Given the description of an element on the screen output the (x, y) to click on. 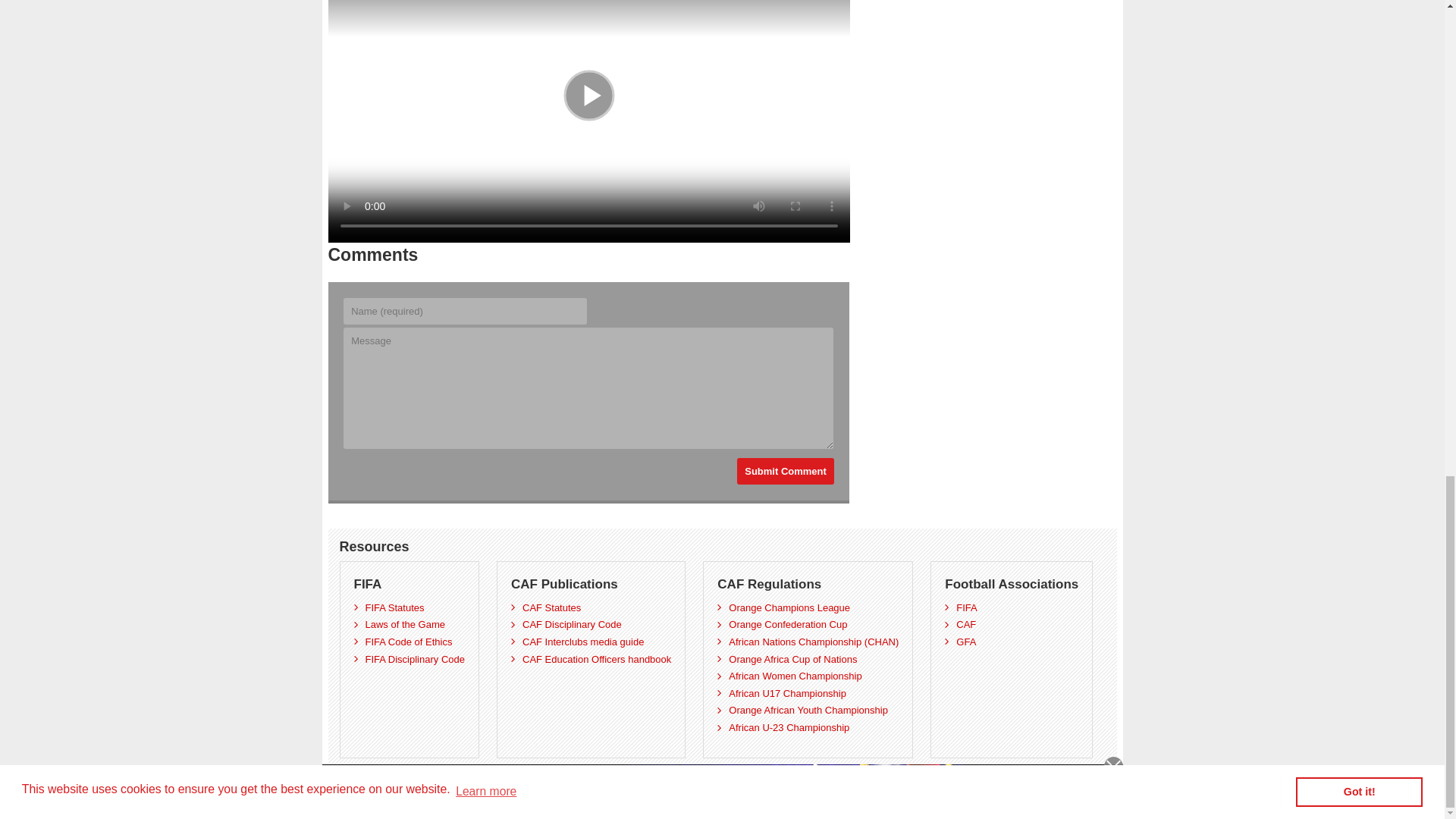
Submit Comment (785, 470)
